Given the description of an element on the screen output the (x, y) to click on. 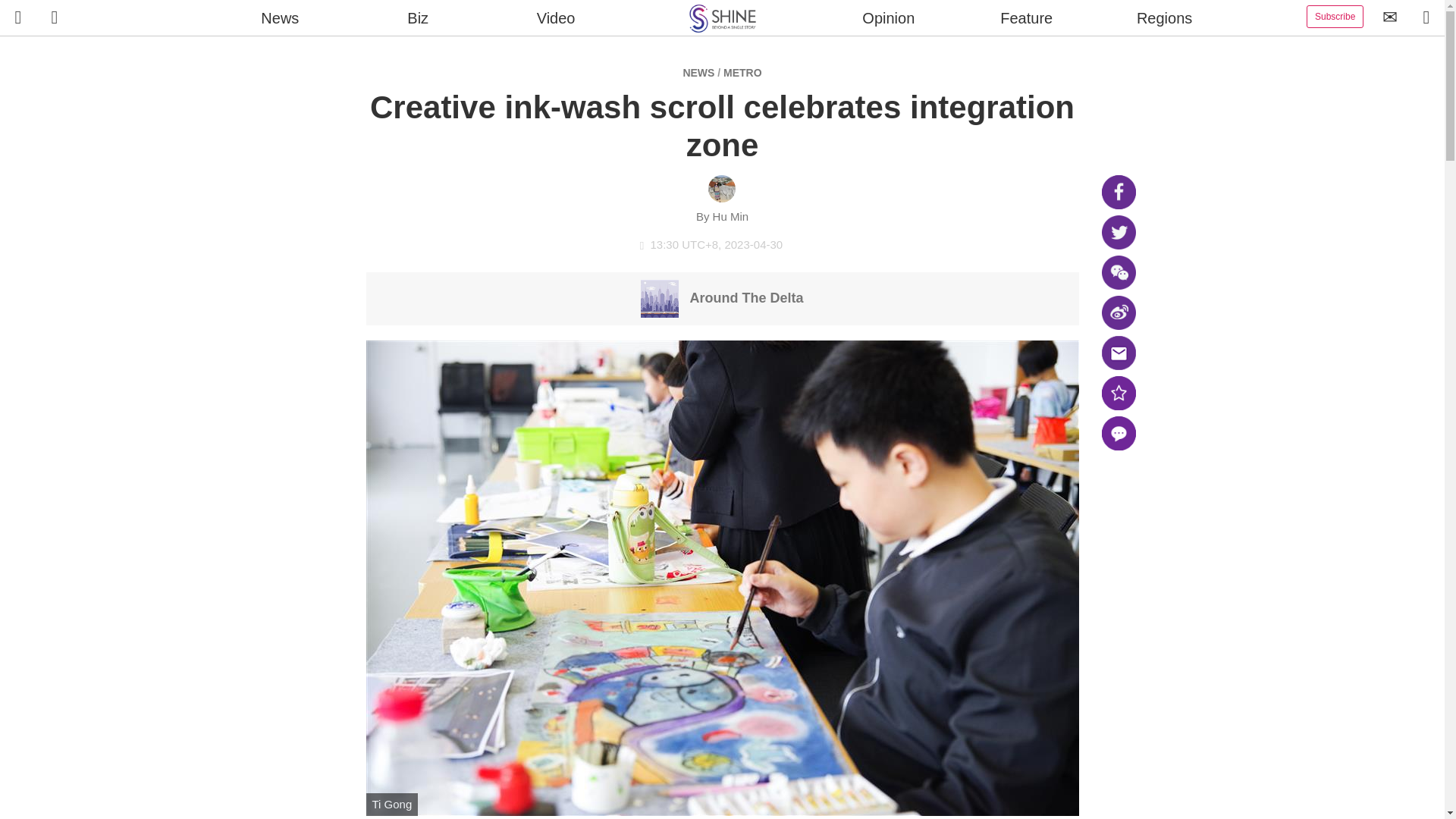
METRO (742, 72)
Add to favorites (1117, 392)
NEWS (698, 72)
Share your comments (1117, 433)
Share via email (1117, 352)
Around The Delta (721, 297)
